Given the description of an element on the screen output the (x, y) to click on. 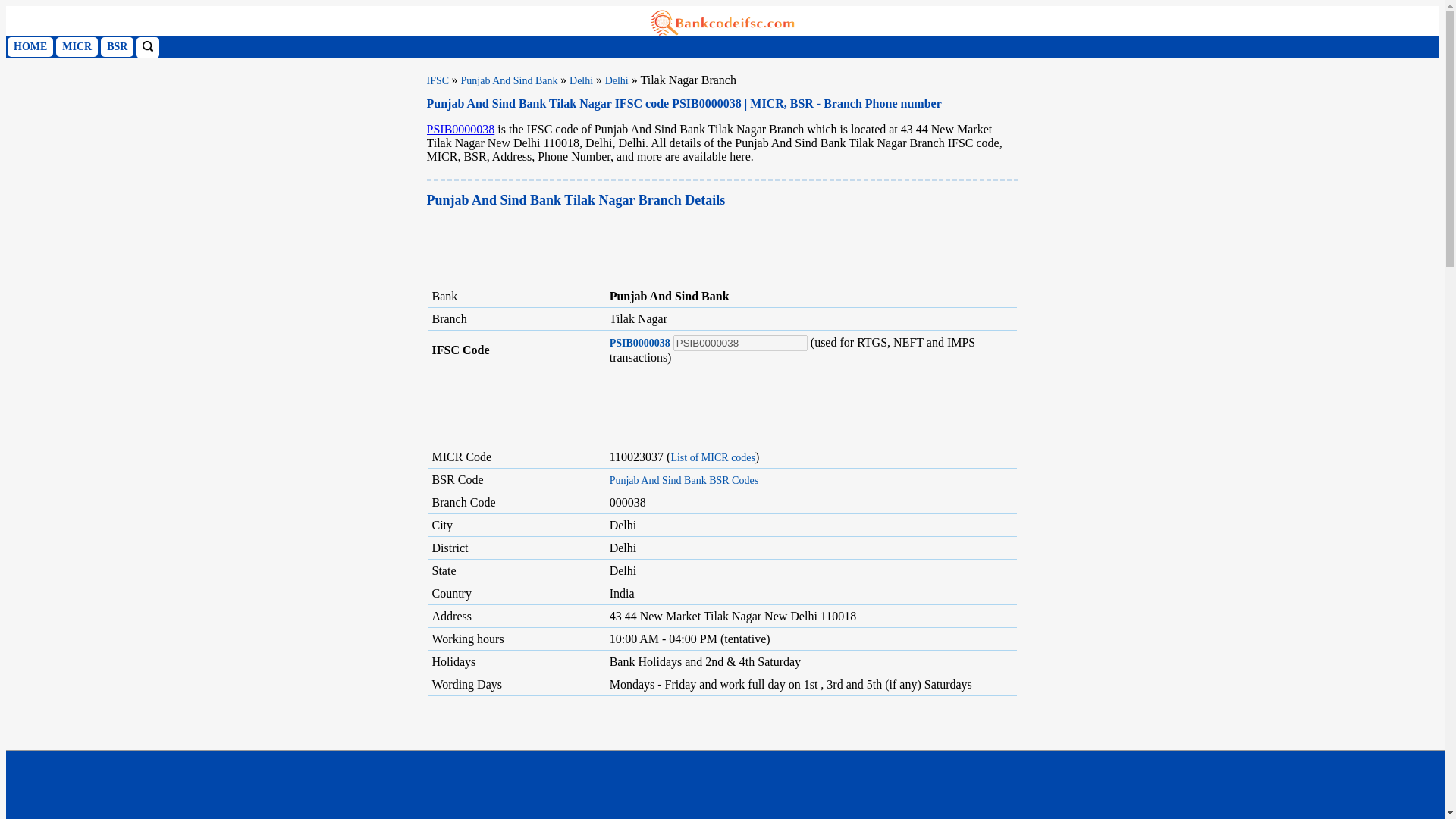
Advertisement (702, 246)
Advertisement (721, 404)
List of MICR codes (712, 457)
BSR (116, 46)
MICR (76, 46)
Advertisement (721, 757)
PSIB0000038 (740, 342)
HOME (29, 46)
PSIB0000038 (460, 128)
Punjab And Sind Bank (510, 80)
